Given the description of an element on the screen output the (x, y) to click on. 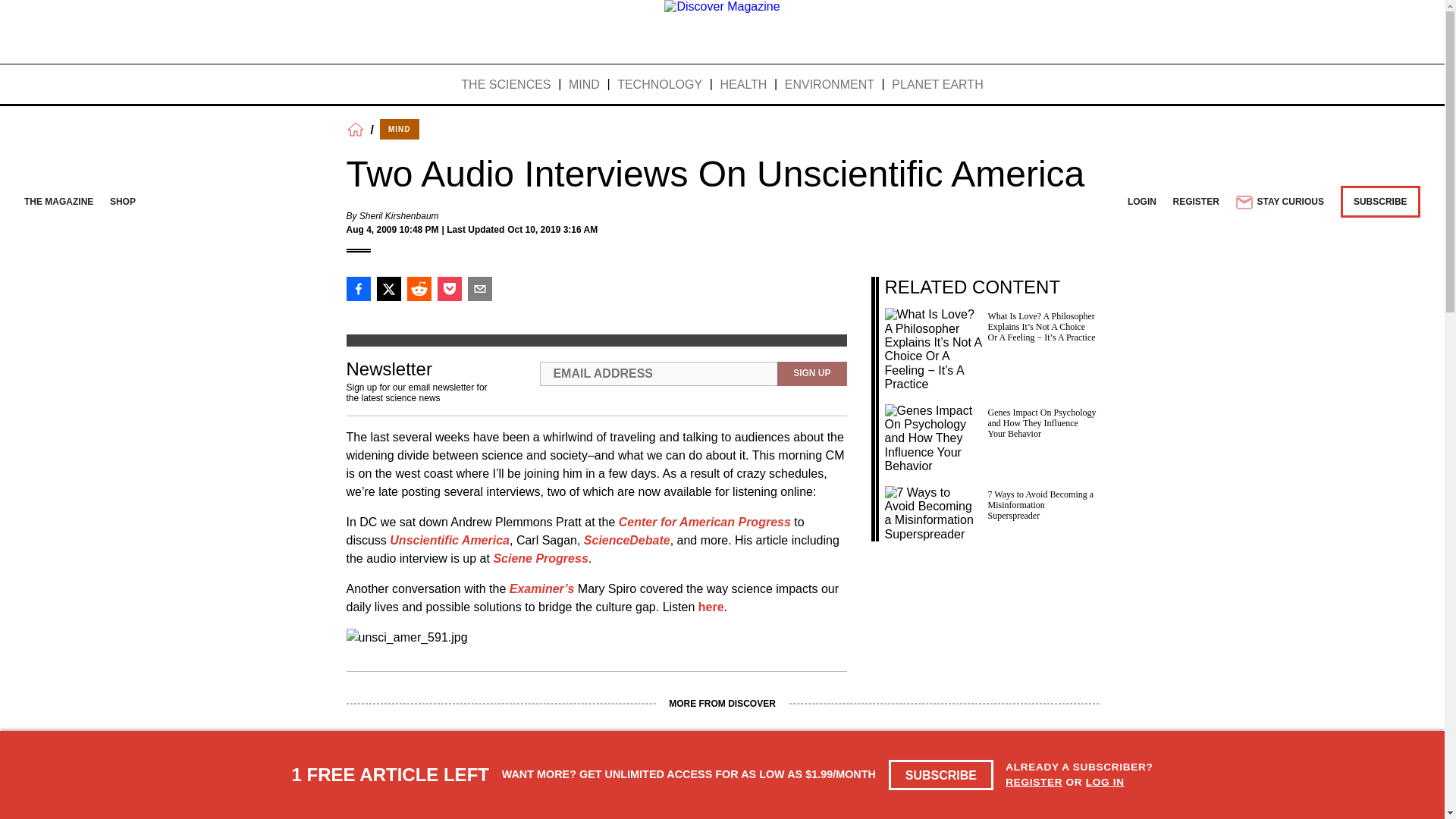
Center for American Progress (704, 521)
Unscientific America (449, 540)
ScienceDebate (626, 540)
LOG IN (1105, 781)
7 Ways to Avoid Becoming a Misinformation Superspreader (990, 508)
HEALTH (743, 84)
PLANET EARTH (936, 84)
LOGIN (1141, 201)
here (710, 606)
MIND (584, 84)
TECHNOLOGY (659, 84)
SUBSCRIBE (1380, 201)
Sciene Progress (540, 558)
STAY CURIOUS (1278, 201)
SUBSCRIBE (941, 775)
